Given the description of an element on the screen output the (x, y) to click on. 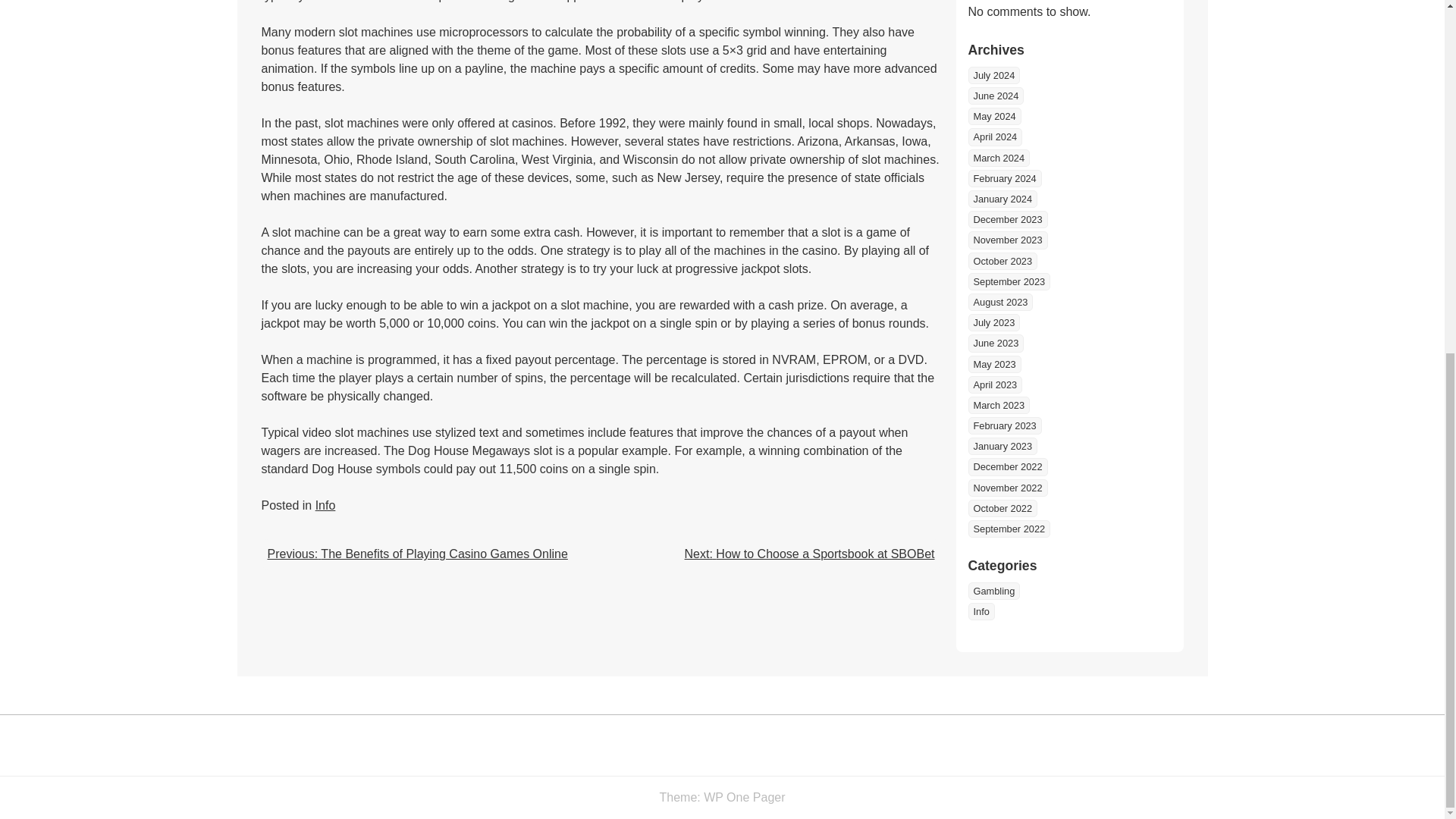
May 2024 (994, 116)
Next: How to Choose a Sportsbook at SBOBet (809, 553)
September 2022 (1008, 528)
March 2023 (998, 405)
June 2024 (995, 95)
July 2023 (994, 322)
October 2023 (1002, 261)
October 2022 (1002, 507)
April 2023 (995, 384)
April 2024 (995, 136)
February 2023 (1004, 425)
January 2023 (1002, 446)
Previous: The Benefits of Playing Casino Games Online (416, 553)
July 2024 (994, 75)
June 2023 (995, 343)
